Given the description of an element on the screen output the (x, y) to click on. 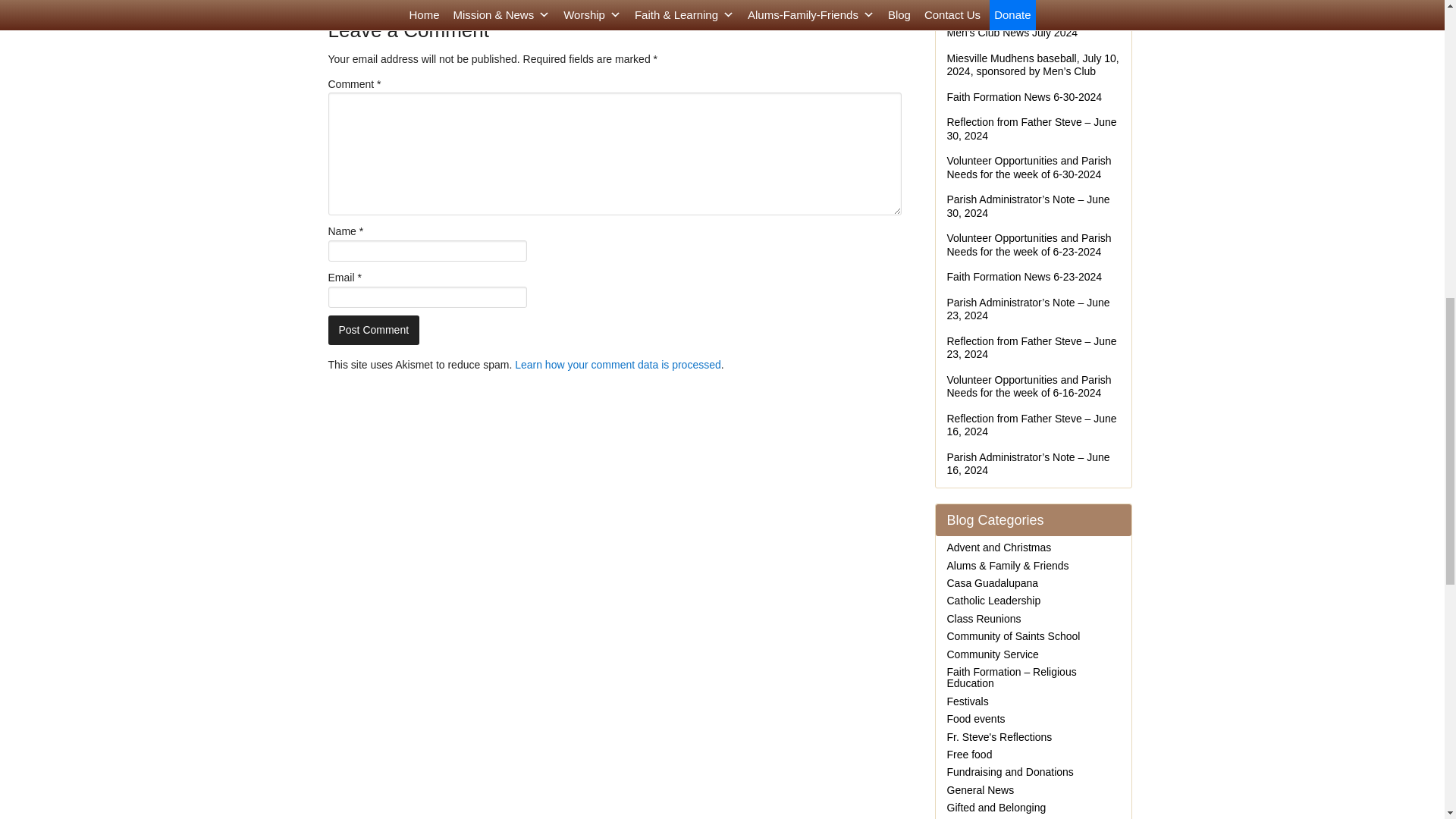
Post Comment (373, 329)
